Given the description of an element on the screen output the (x, y) to click on. 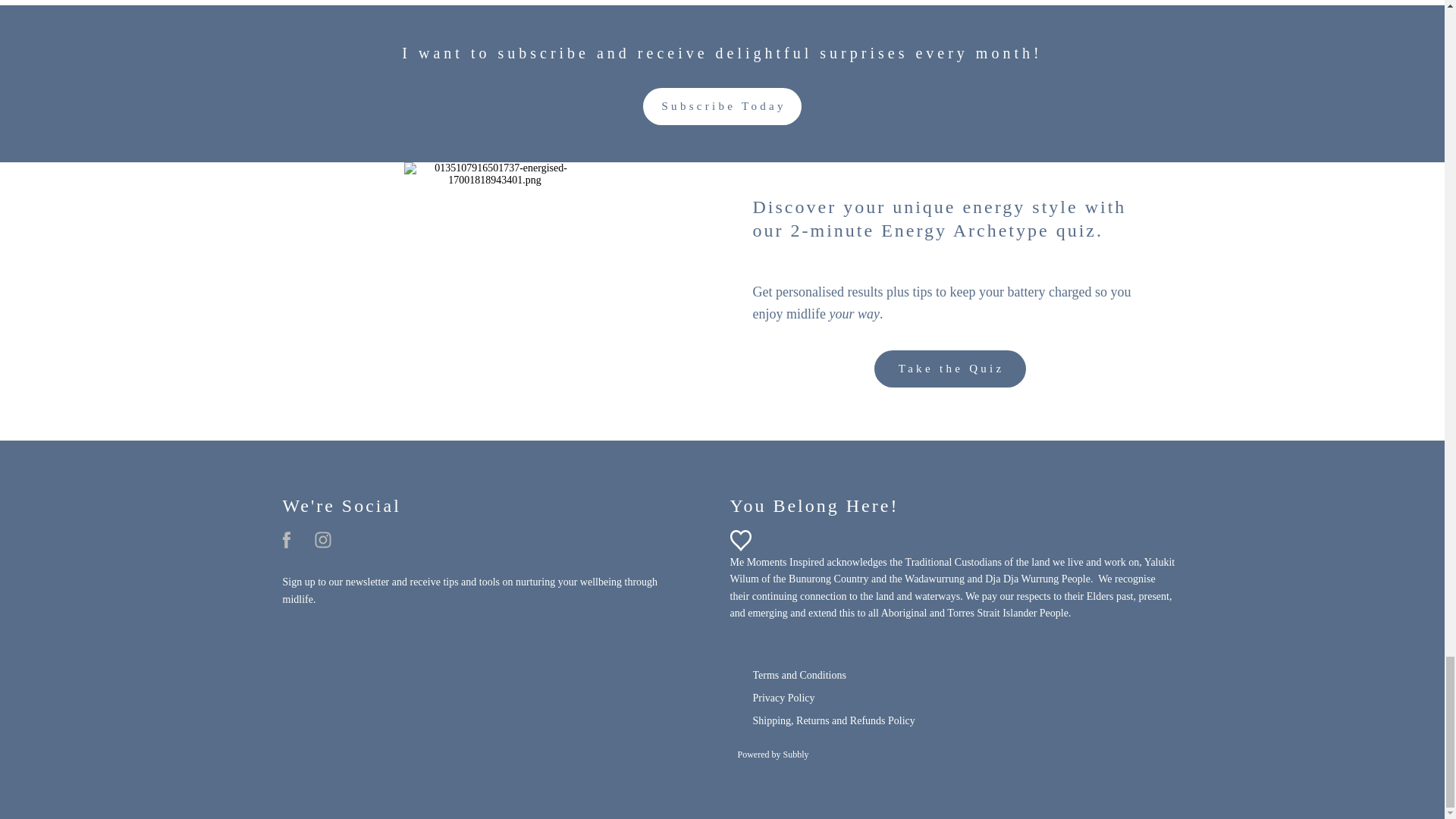
Shipping, Returns and Refunds Policy (833, 720)
Subbly (795, 754)
Privacy Policy (782, 698)
Subscribe Today (722, 106)
Terms and Conditions (798, 675)
Take the Quiz (949, 368)
